Given the description of an element on the screen output the (x, y) to click on. 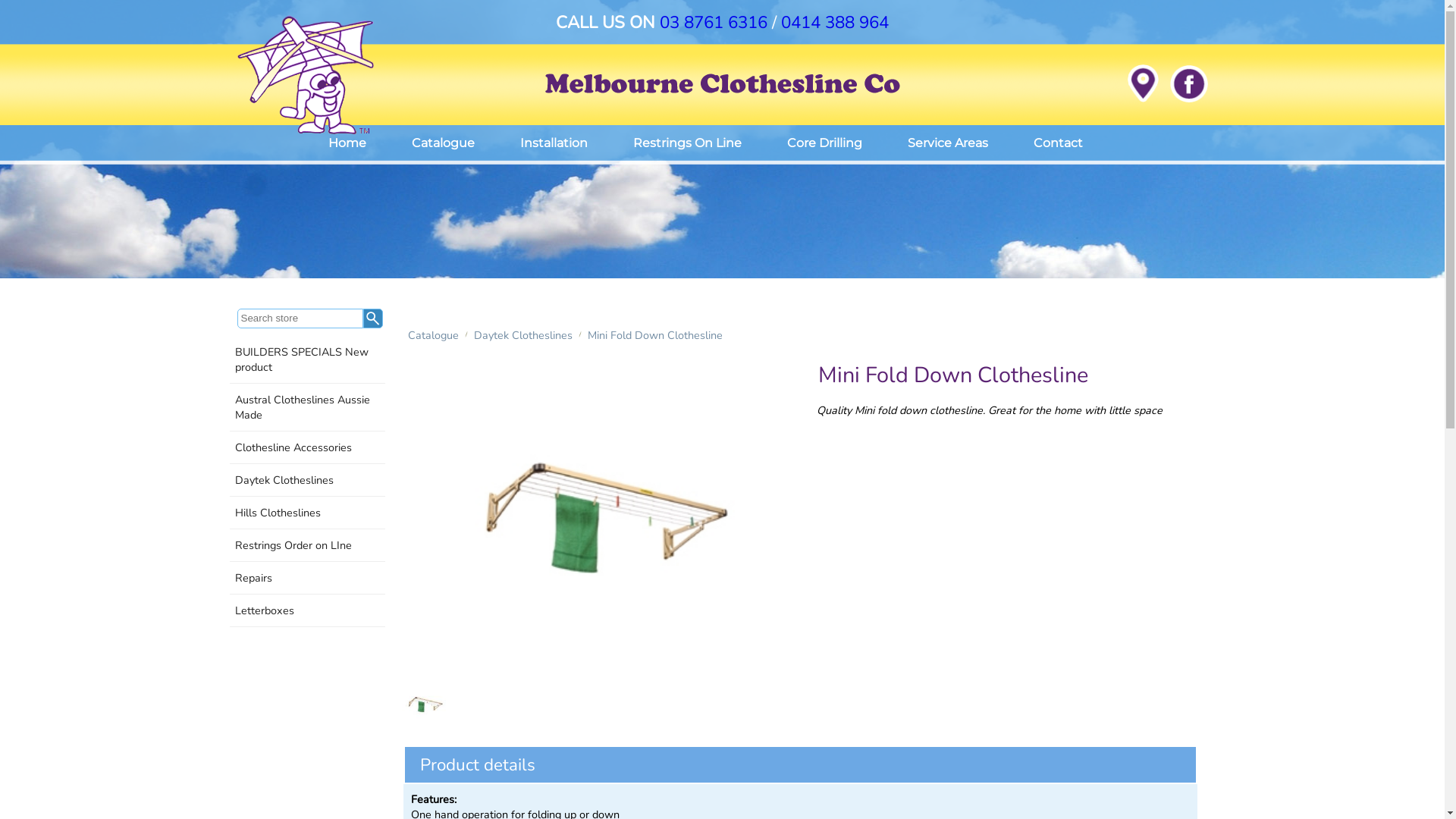
Installation Element type: text (553, 142)
03 8761 6316 Element type: text (713, 22)
Contact Element type: text (1057, 142)
Mini Fold Down Clothesline Element type: text (653, 334)
Catalogue Element type: text (442, 142)
Clothesline Accessories Element type: text (306, 447)
Restrings Order on LIne Element type: text (306, 545)
Austral Clotheslines Aussie Made Element type: text (306, 407)
Daytek Clotheslines Element type: text (306, 480)
BUILDERS SPECIALS New product Element type: text (306, 359)
0414 388 964 Element type: text (834, 22)
Daytek Clotheslines Element type: text (522, 334)
Home Element type: text (346, 142)
Mini Fold Down Clothesline Element type: hover (600, 516)
Core Drilling Element type: text (824, 142)
Service Areas Element type: text (947, 142)
Catalogue Element type: text (432, 334)
Letterboxes Element type: text (306, 610)
Hills Clotheslines Element type: text (306, 512)
Repairs Element type: text (306, 577)
Restrings On Line Element type: text (686, 142)
